Given the description of an element on the screen output the (x, y) to click on. 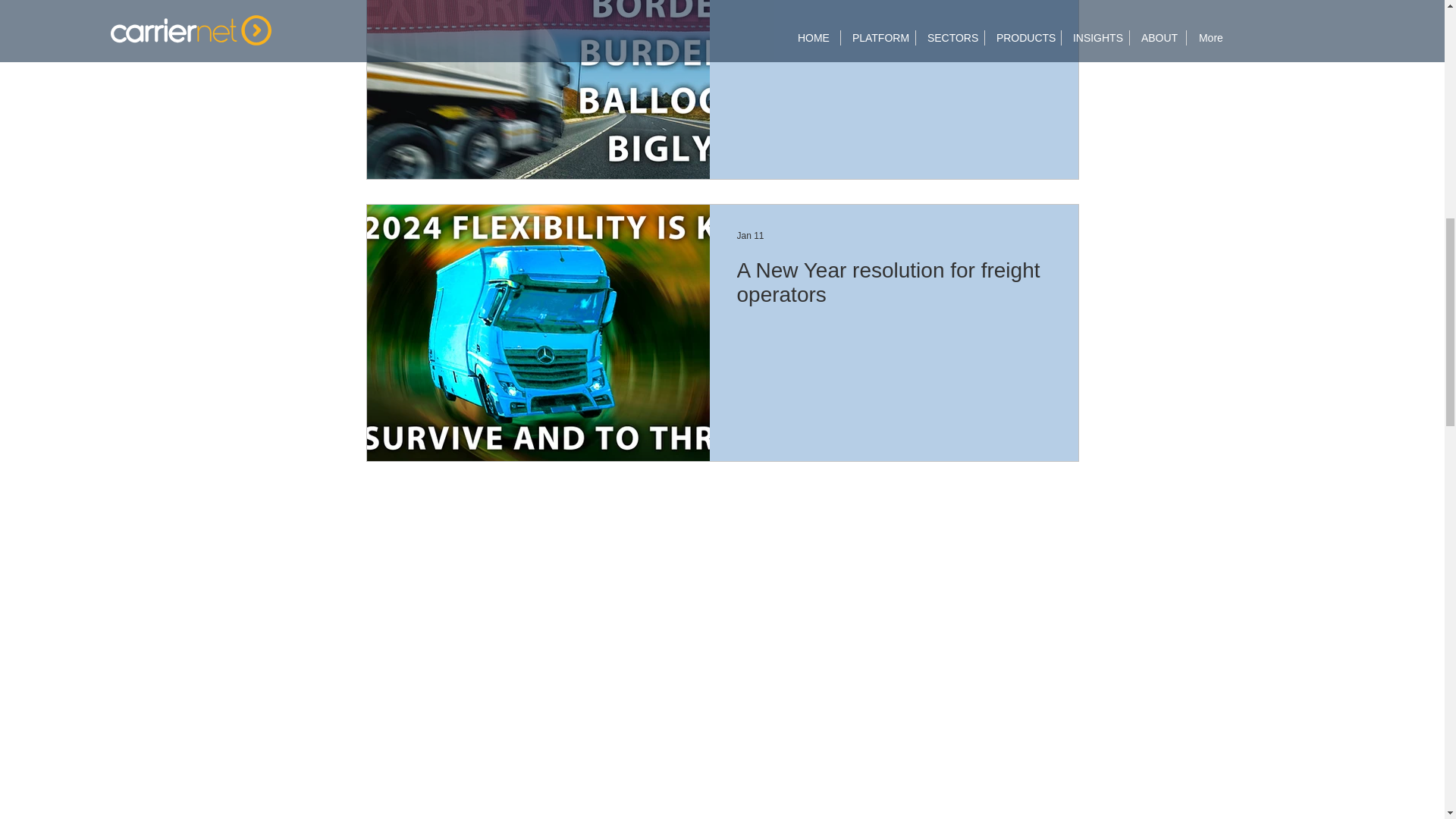
Brexit bites again! (893, 4)
A New Year resolution for freight operators (893, 286)
Jan 11 (750, 235)
